Given the description of an element on the screen output the (x, y) to click on. 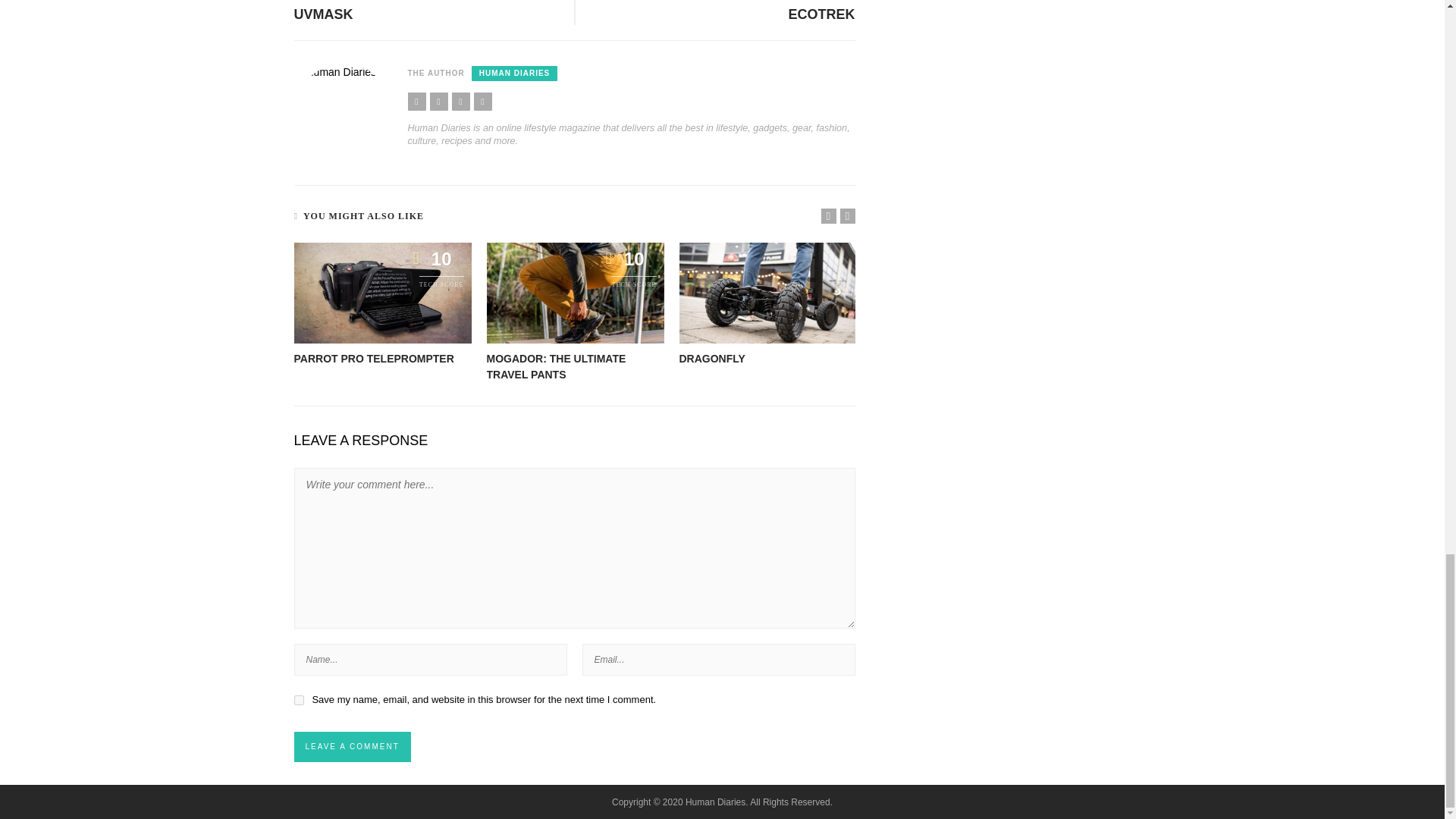
yes (299, 700)
Leave a comment (352, 747)
